Given the description of an element on the screen output the (x, y) to click on. 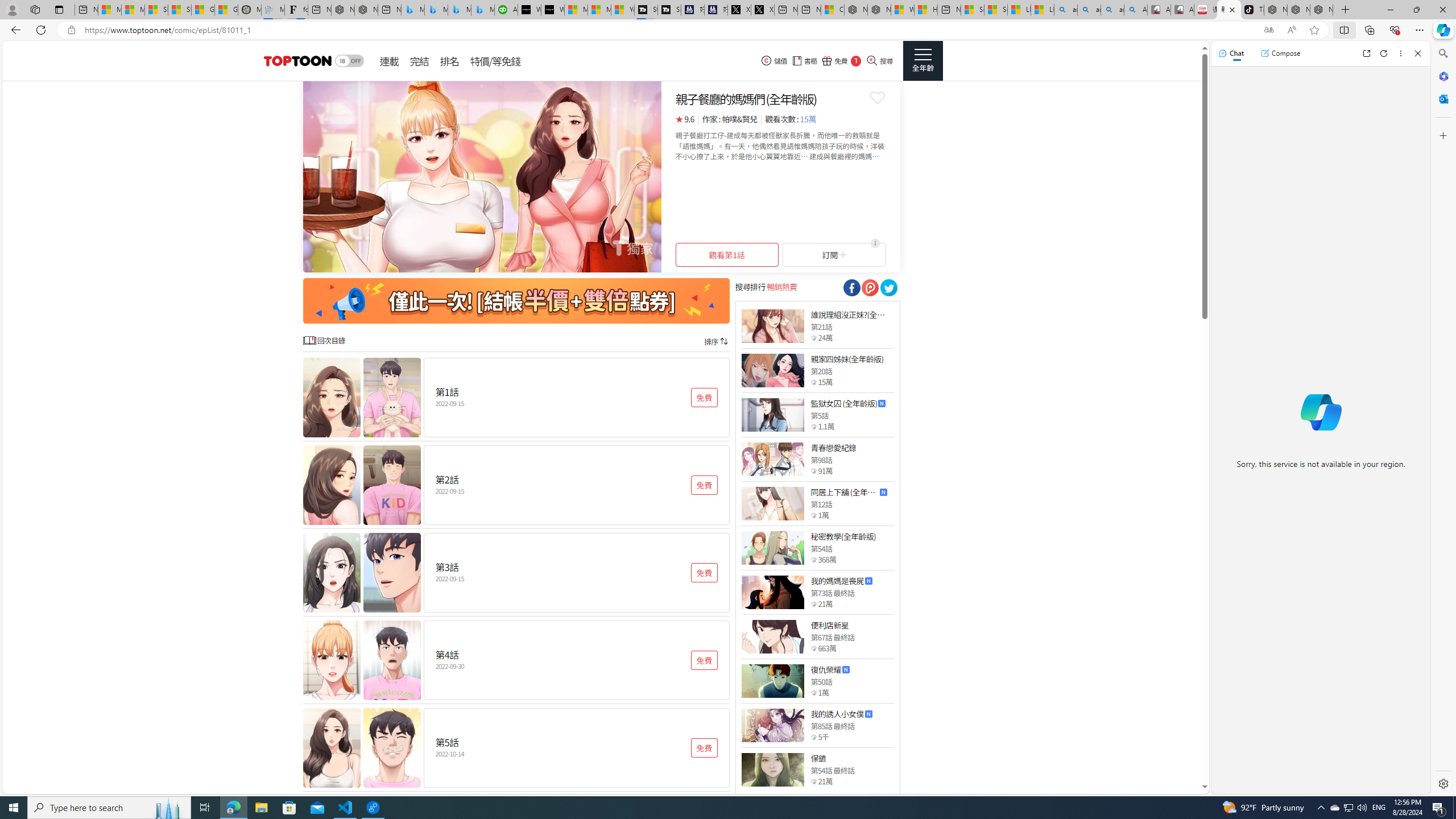
Amazon Echo Robot - Search Images (1135, 9)
Side bar (1443, 418)
Nordace - Best Sellers (1275, 9)
Class: thumb_img (772, 769)
